Given the description of an element on the screen output the (x, y) to click on. 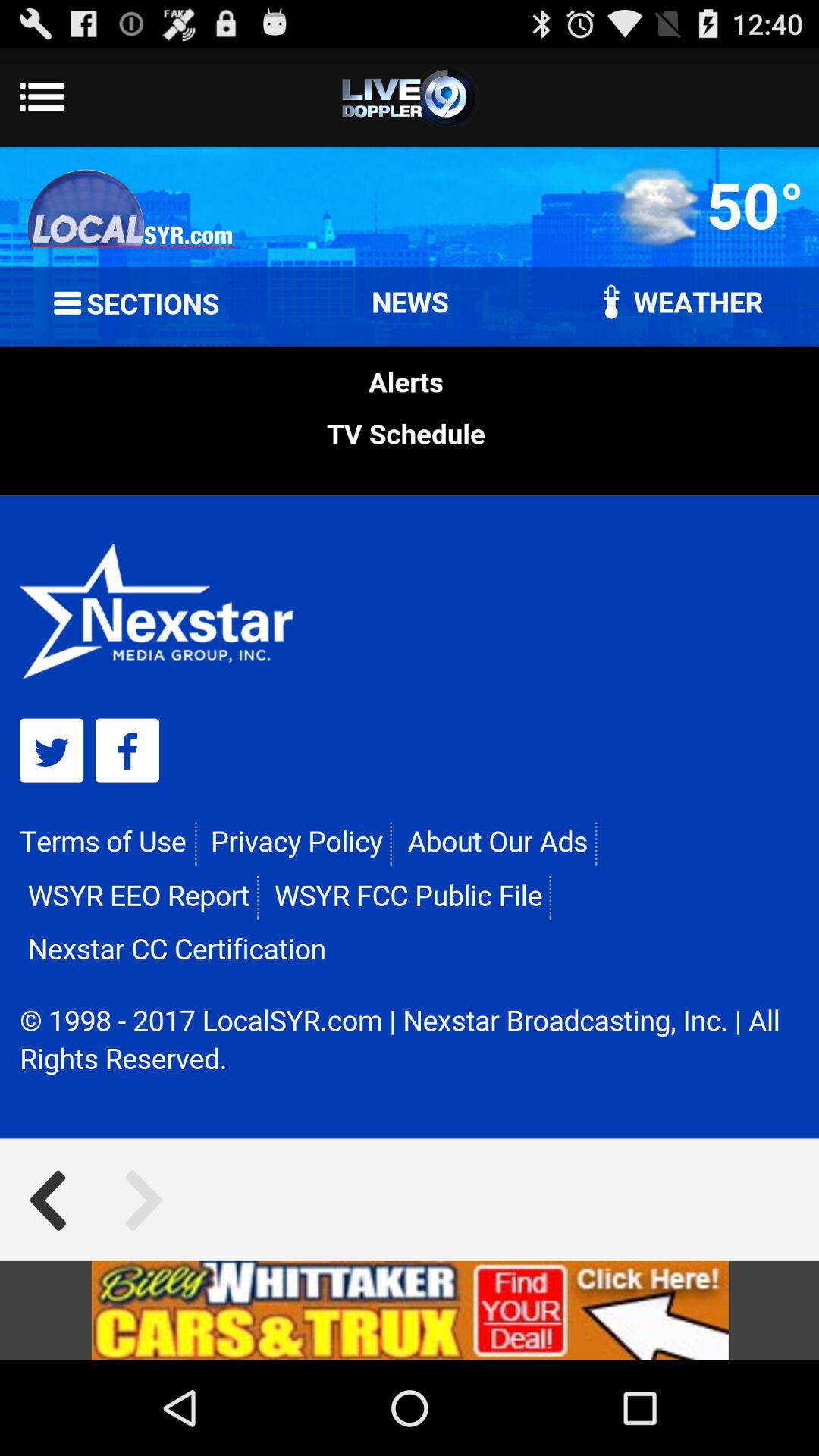
bit news (409, 1310)
